Given the description of an element on the screen output the (x, y) to click on. 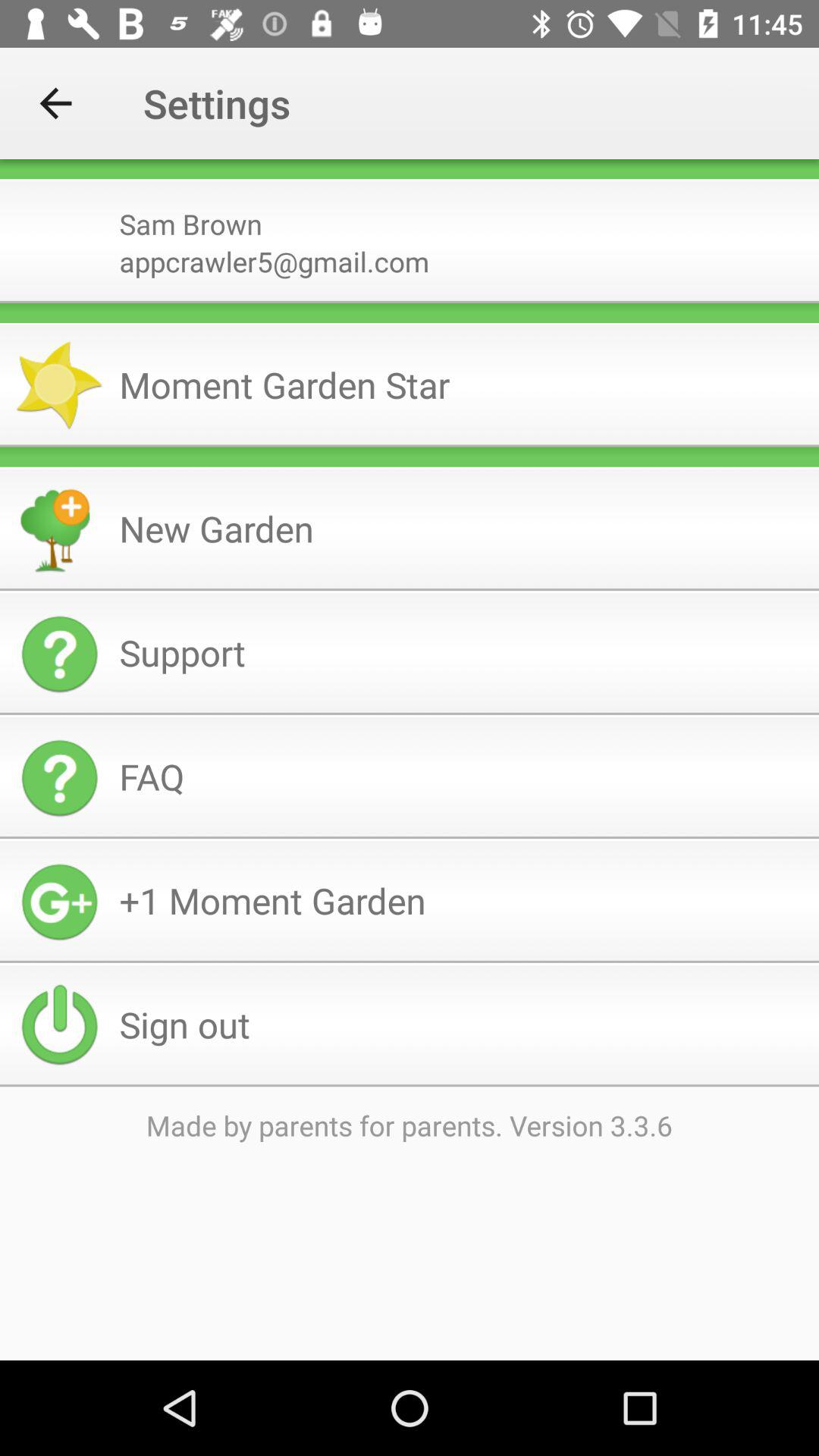
flip to icon (409, 169)
